Given the description of an element on the screen output the (x, y) to click on. 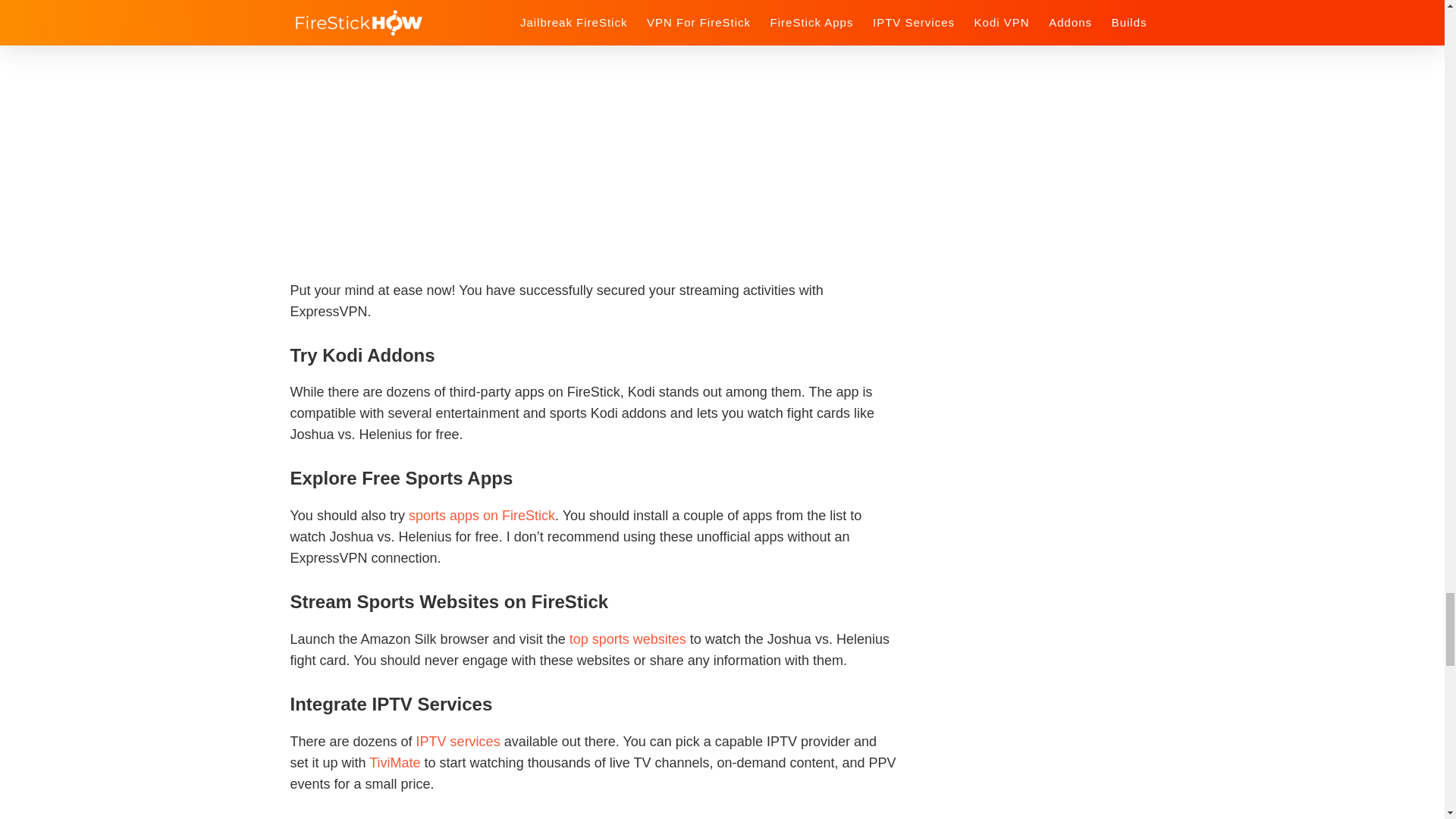
top sports websites (627, 639)
sports apps on FireStick (481, 515)
TiviMate (394, 762)
IPTV services (458, 741)
